Given the description of an element on the screen output the (x, y) to click on. 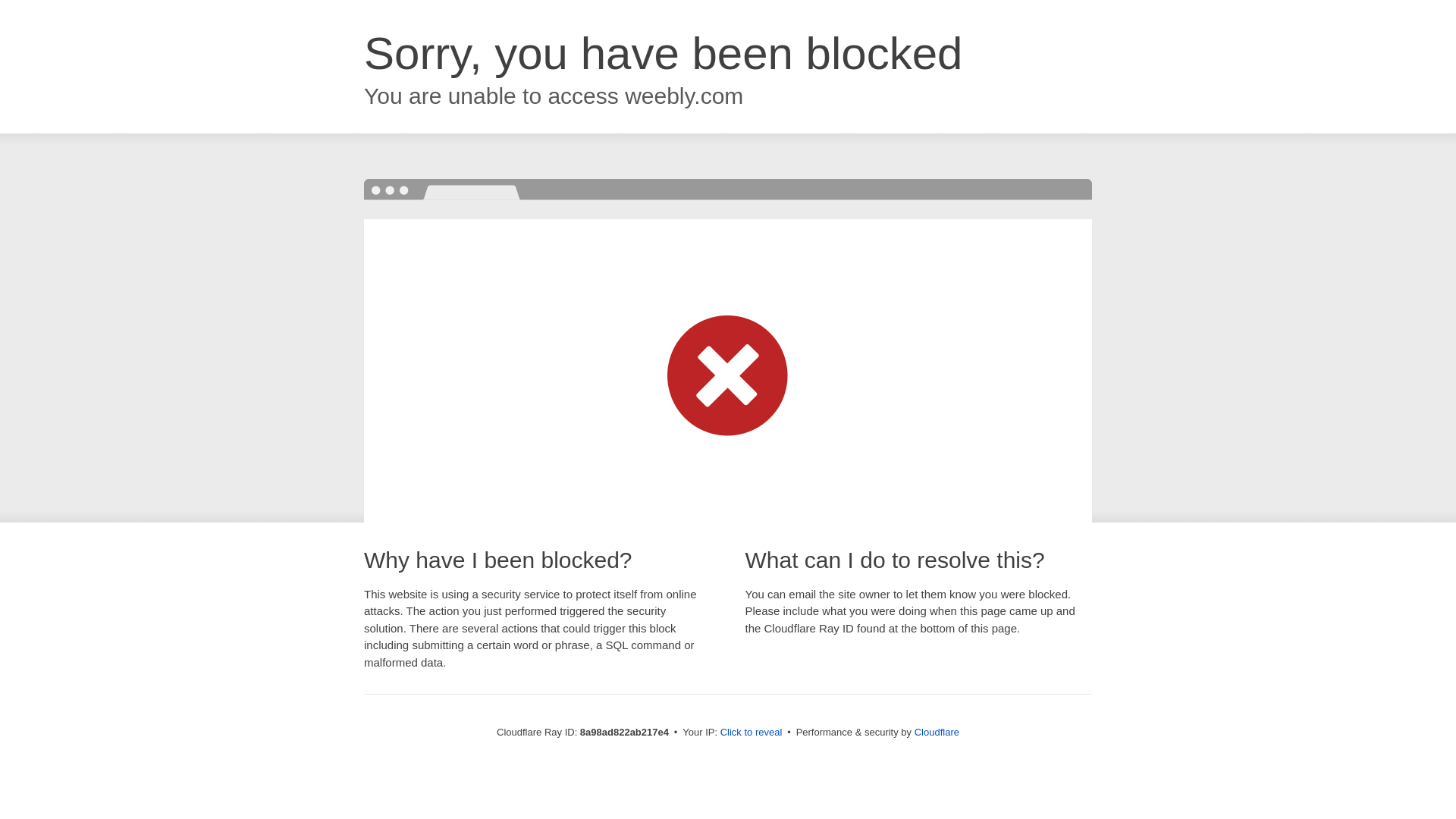
Click to reveal (751, 732)
Cloudflare (936, 731)
